Given the description of an element on the screen output the (x, y) to click on. 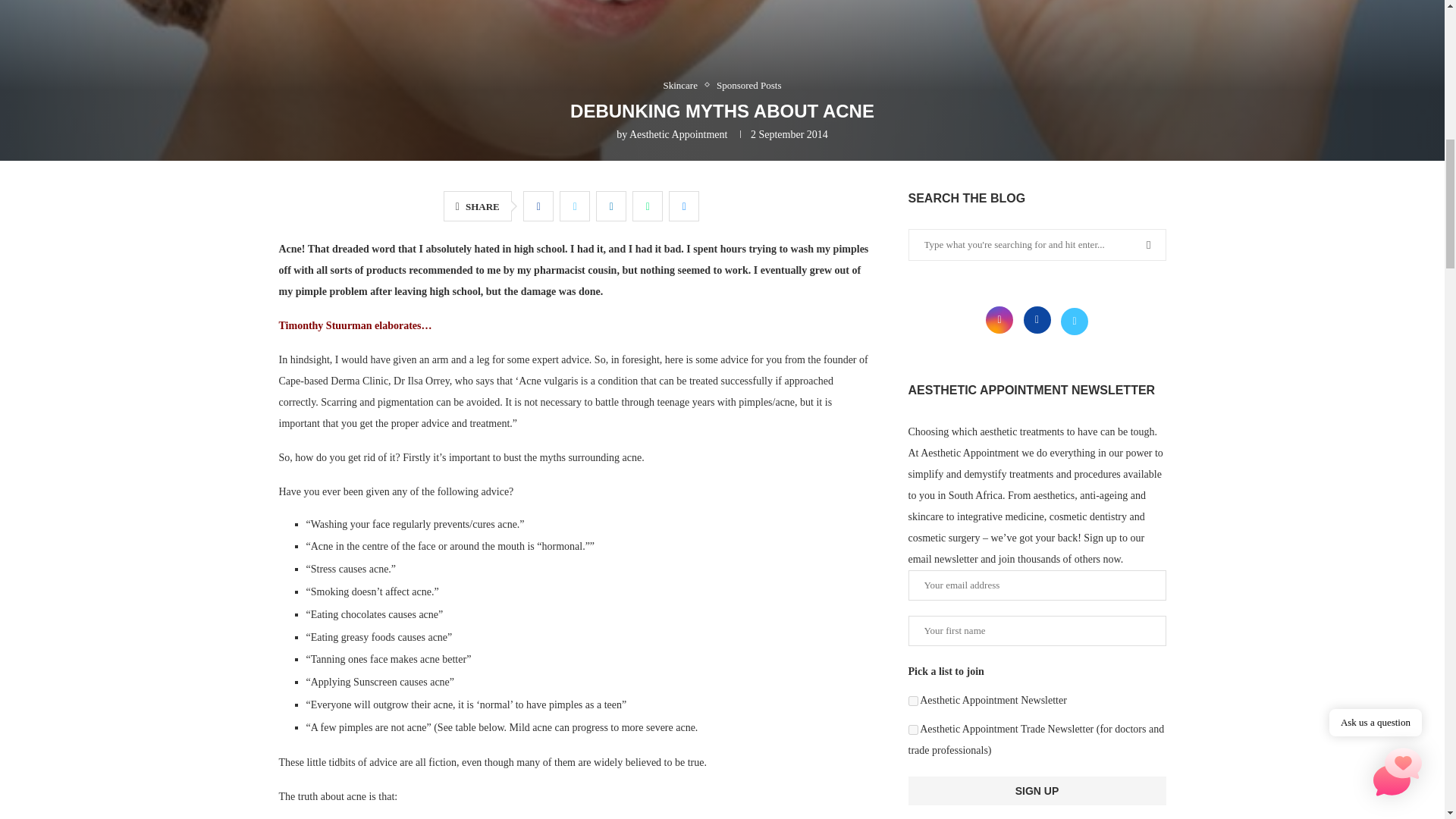
efa6b7853d (913, 729)
Skincare (683, 85)
Aesthetic Appointment (677, 134)
f1f0d68cfb (913, 700)
Sign up (1037, 790)
Sponsored Posts (748, 85)
